Given the description of an element on the screen output the (x, y) to click on. 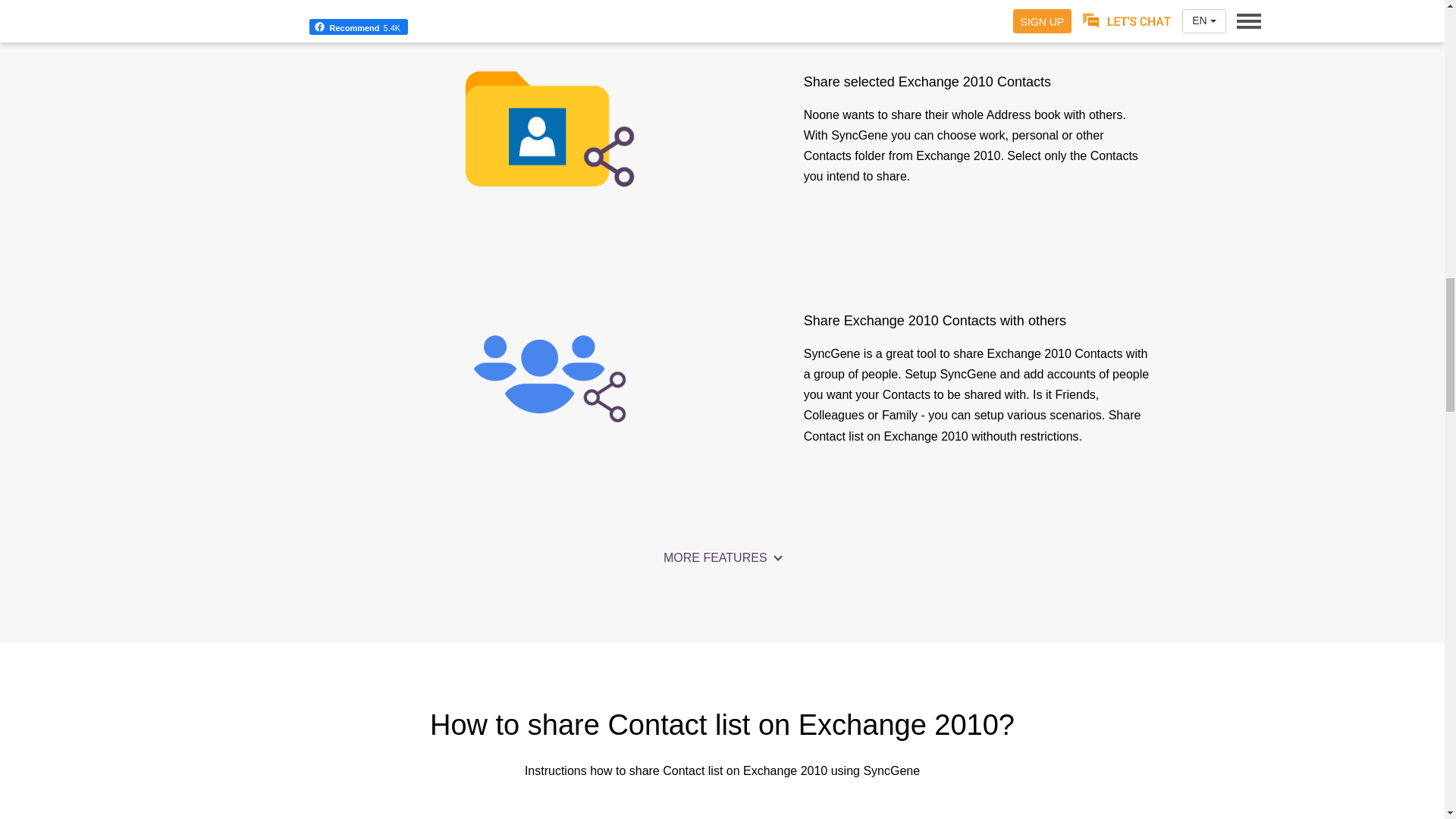
Share Exchange 2010 Contacts with others (549, 378)
Click to see more (722, 557)
MORE FEATURES (722, 557)
Share selected Exchange 2010 Contacts (549, 128)
